Given the description of an element on the screen output the (x, y) to click on. 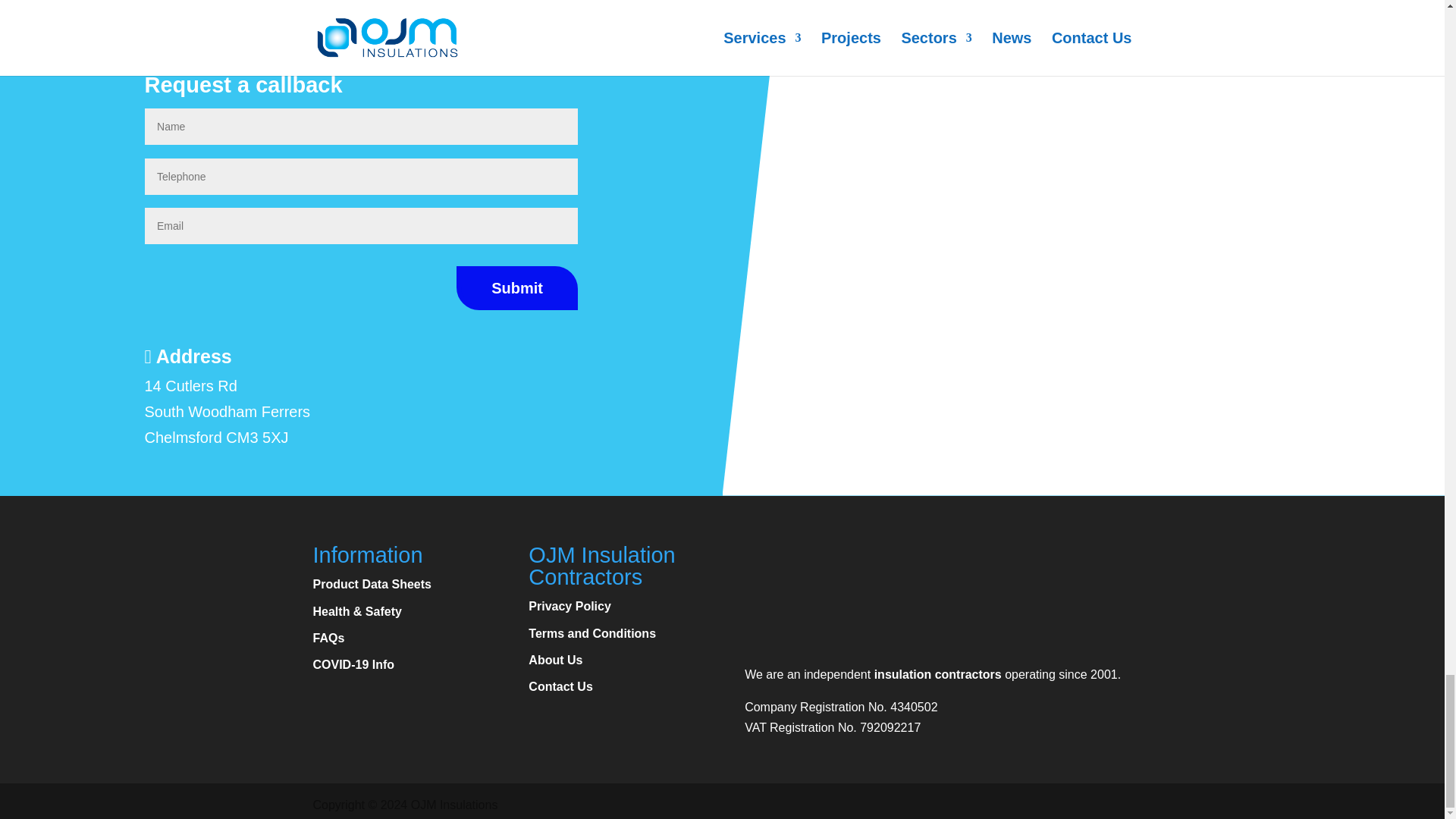
Contact Us (560, 686)
FAQs (328, 637)
COVID-19 Info (353, 664)
01245 425511 (216, 32)
Product Data Sheets (371, 584)
Privacy Policy (569, 605)
Terms and Conditions (592, 633)
Only numbers allowed. (361, 176)
About Us (555, 659)
Submit (517, 288)
